Given the description of an element on the screen output the (x, y) to click on. 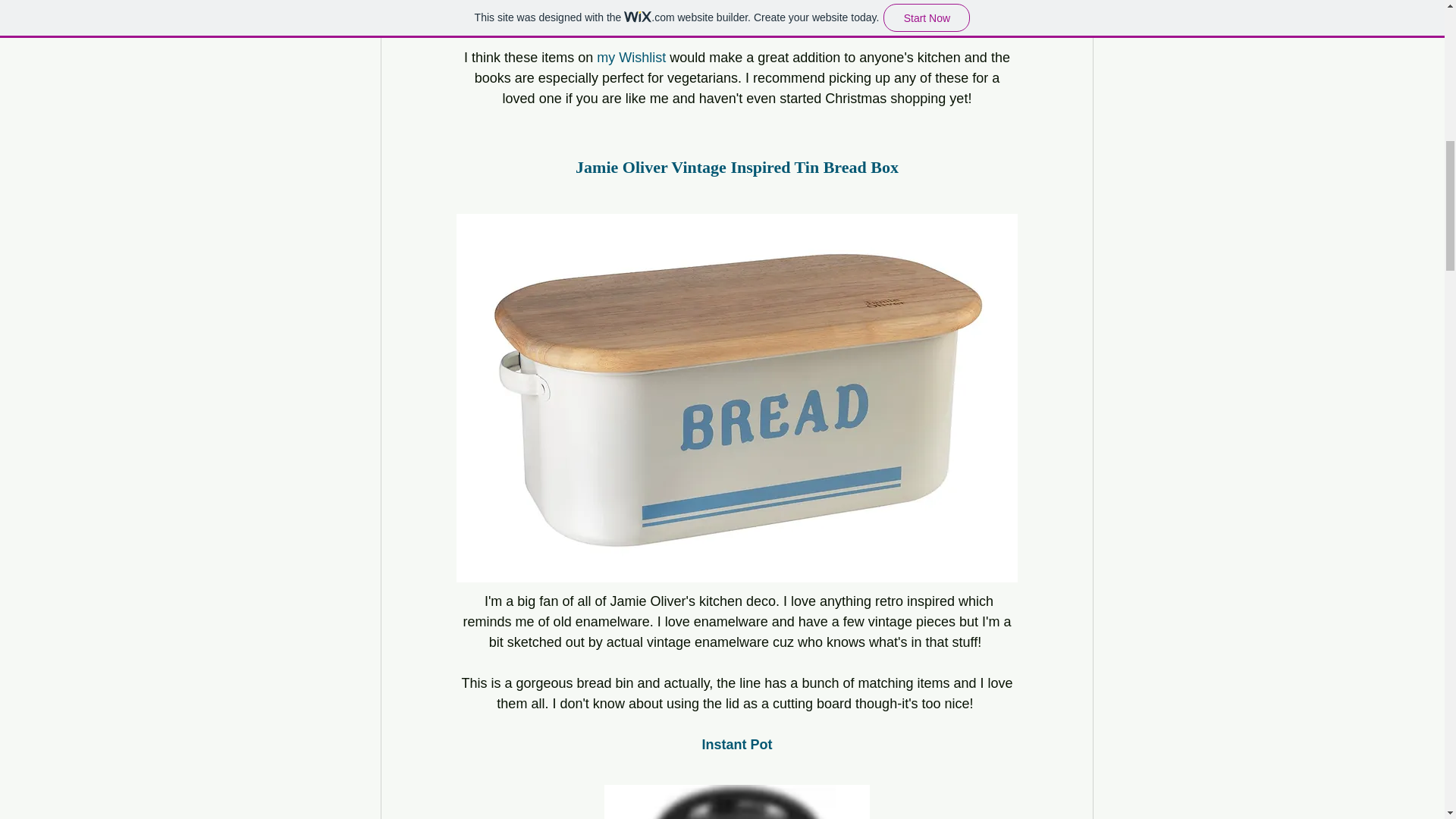
my Wishlist (630, 57)
Jamie Oliver Vintage Inspired Tin Bread Box (736, 167)
Instant Pot (736, 744)
